Given the description of an element on the screen output the (x, y) to click on. 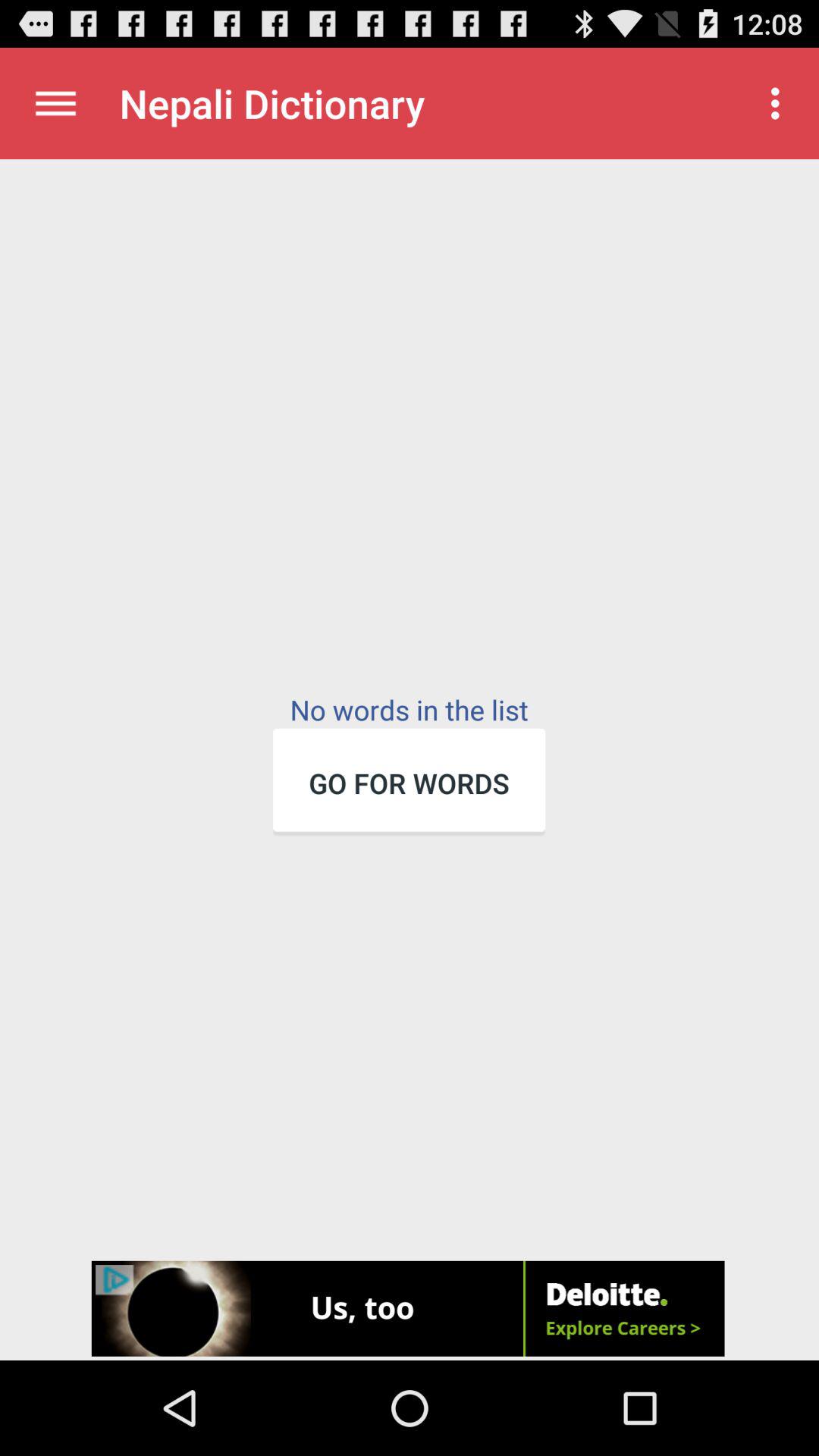
advertisement banner (409, 1310)
